Given the description of an element on the screen output the (x, y) to click on. 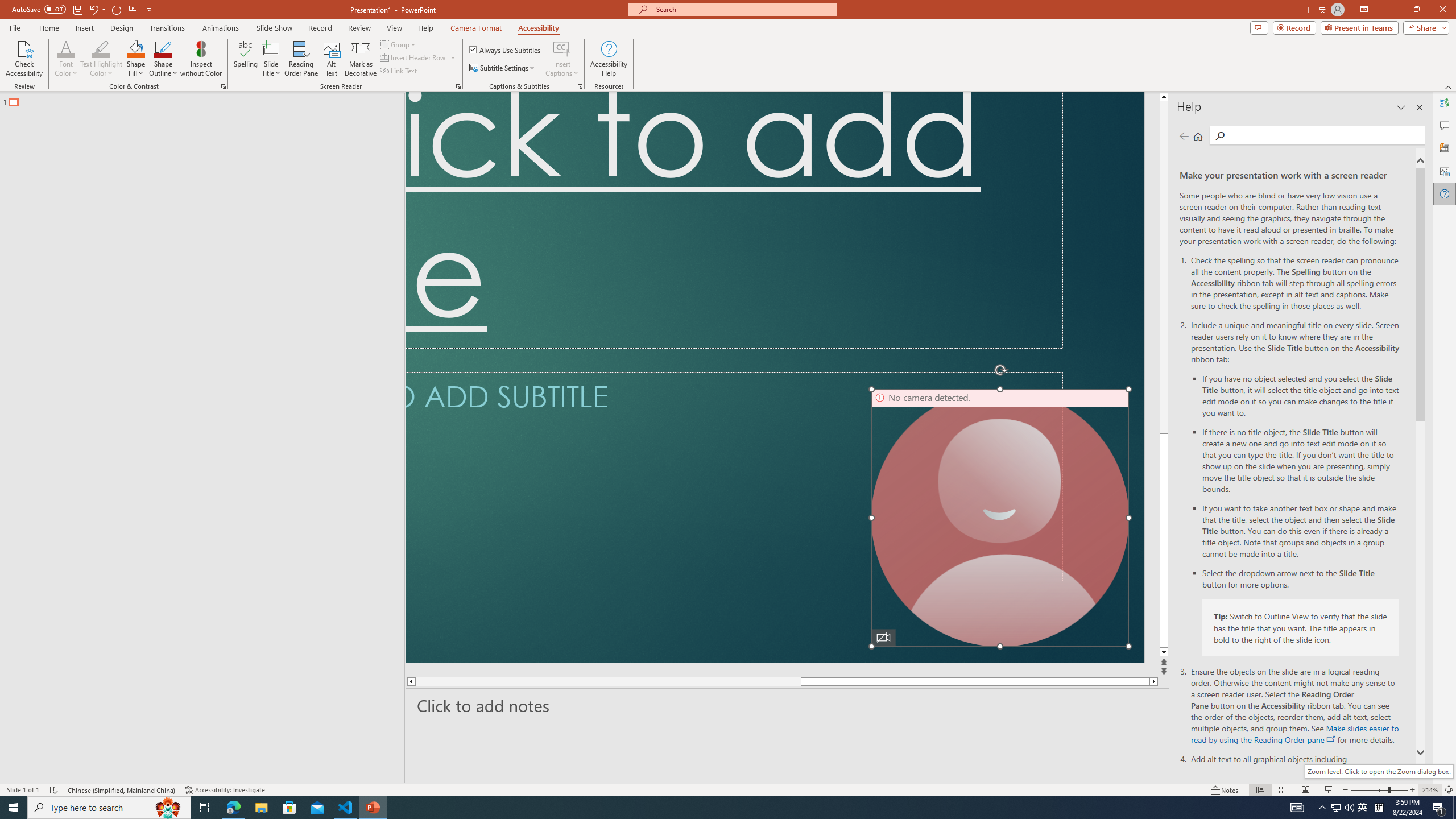
Slide Title (271, 58)
Group (398, 44)
Camera Format (475, 28)
Captions & Subtitles (580, 85)
Title TextBox (734, 219)
